Given the description of an element on the screen output the (x, y) to click on. 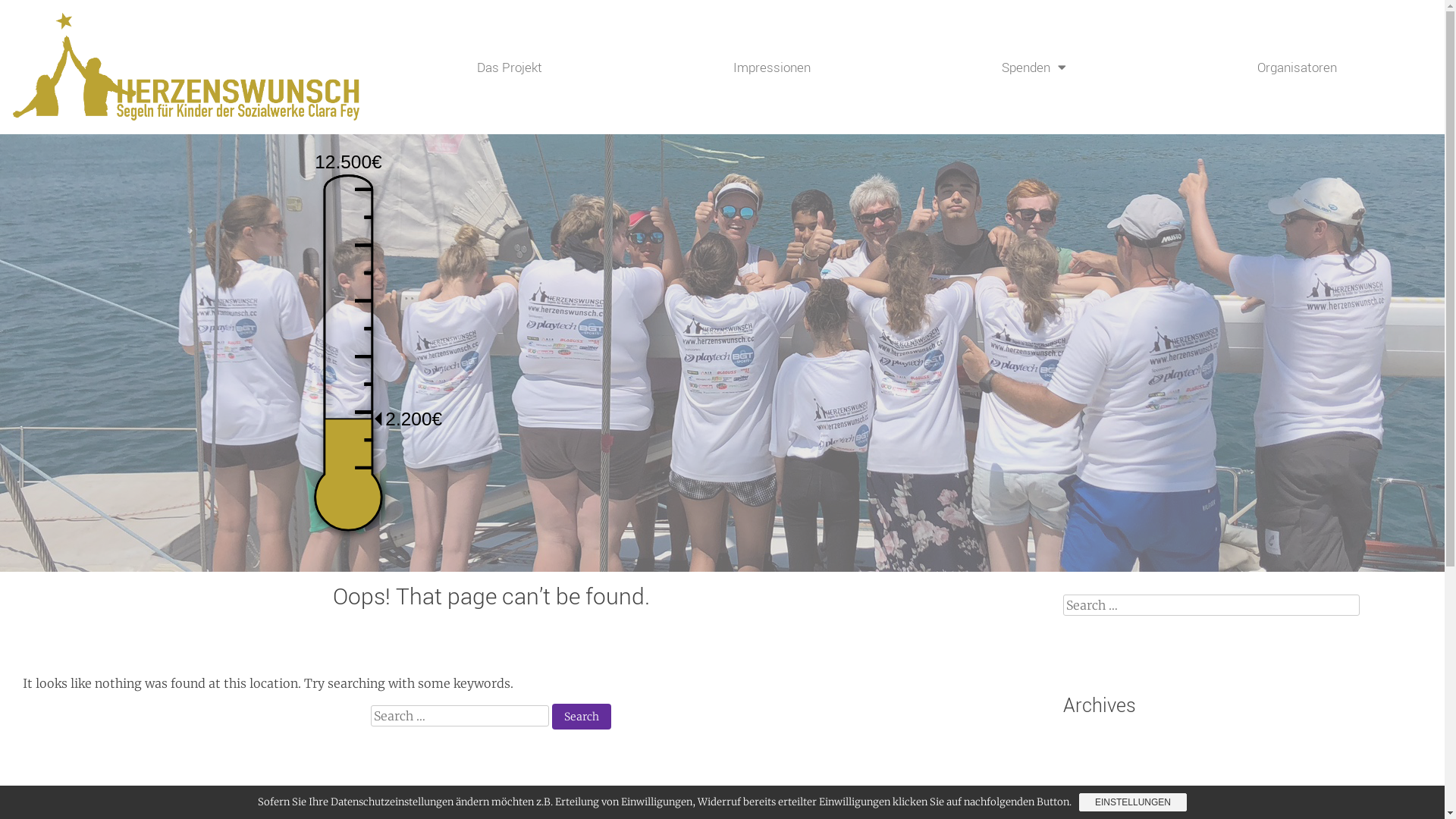
Search Element type: text (581, 716)
Search Element type: text (29, 12)
Spenden Element type: text (1033, 67)
Das Projekt Element type: text (509, 67)
EINSTELLUNGEN Element type: text (1132, 802)
Organisatoren Element type: text (1296, 67)
Impressionen Element type: text (771, 67)
